Given the description of an element on the screen output the (x, y) to click on. 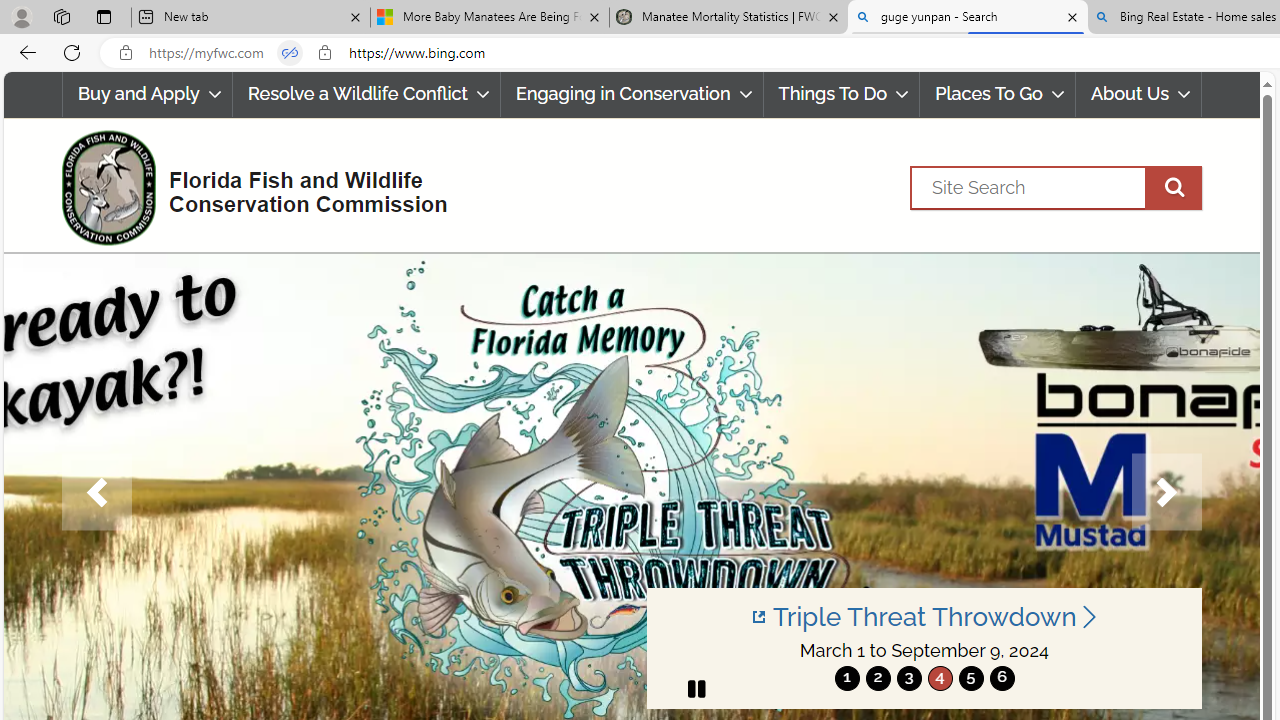
Buy and Apply (146, 94)
Next (1166, 491)
Things To Do (841, 94)
move to slide 6 (1002, 678)
Search (1055, 187)
Manatee Mortality Statistics | FWC (729, 17)
Resolve a Wildlife Conflict (365, 94)
move to slide 1 (847, 678)
move to slide 4 (939, 678)
About Us (1139, 94)
slider pause button (696, 688)
Resolve a Wildlife Conflict (365, 94)
Refresh (72, 52)
Buy and Apply (146, 94)
